Given the description of an element on the screen output the (x, y) to click on. 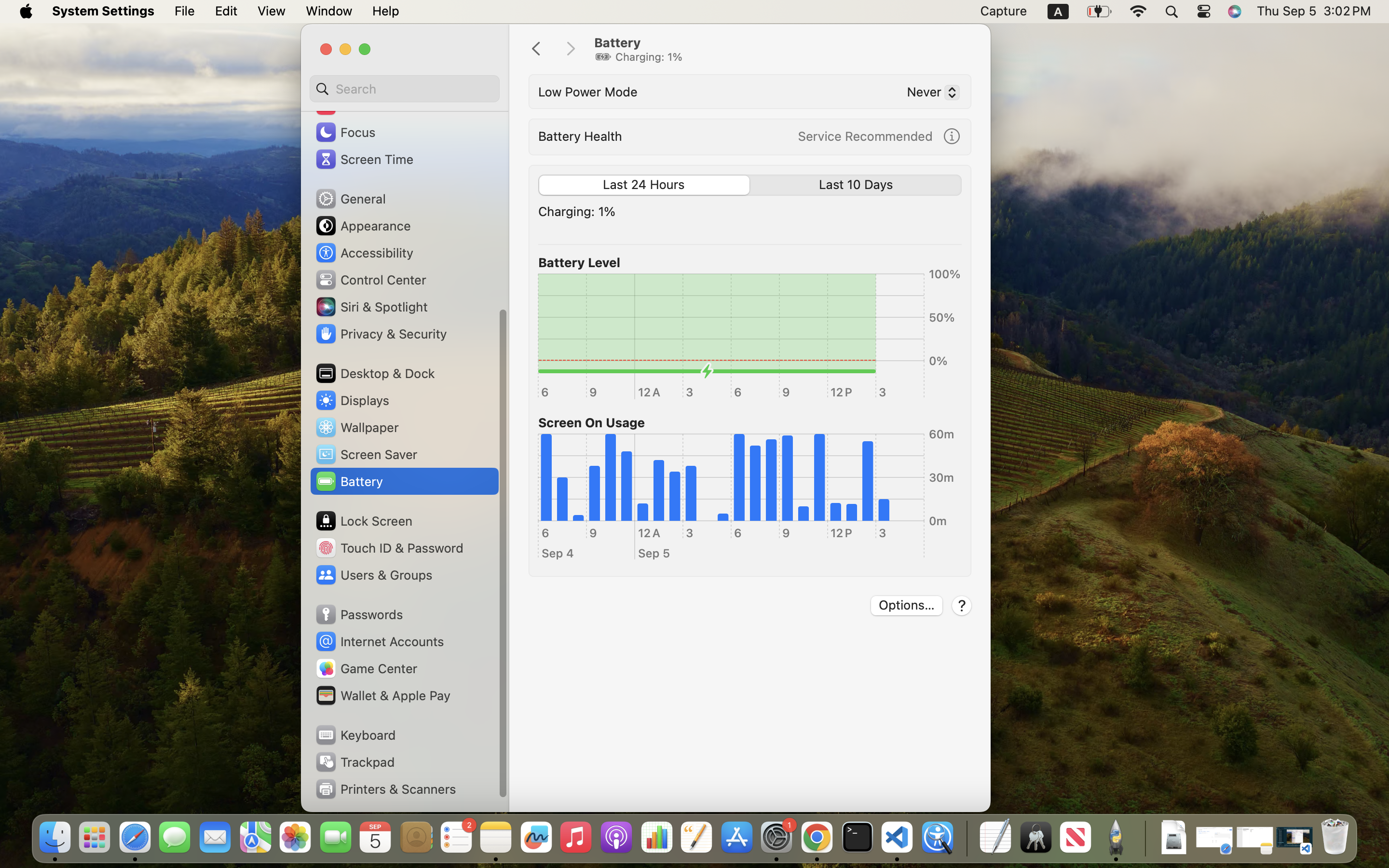
Battery Element type: AXStaticText (782, 49)
General Element type: AXStaticText (349, 198)
Game Center Element type: AXStaticText (365, 667)
Passwords Element type: AXStaticText (358, 613)
Service Recommended Element type: AXStaticText (864, 135)
